Given the description of an element on the screen output the (x, y) to click on. 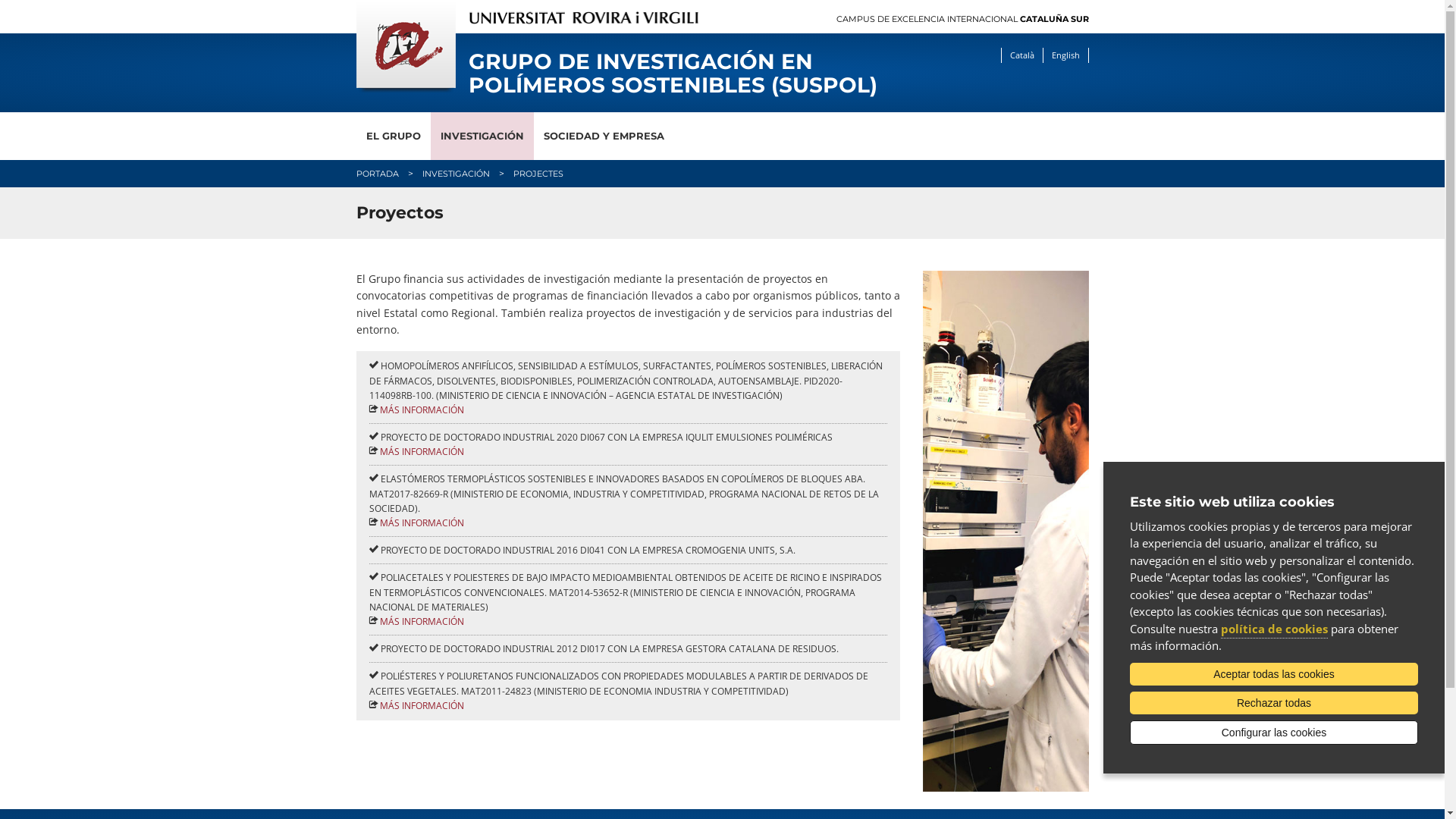
Configurar las cookies Element type: text (1273, 732)
SOCIEDAD Y EMPRESA Element type: text (603, 136)
PORTADA Element type: text (377, 173)
Rechazar todas Element type: text (1273, 702)
Aceptar todas las cookies Element type: text (1273, 673)
English Element type: text (1065, 54)
EL GRUPO Element type: text (393, 136)
